Given the description of an element on the screen output the (x, y) to click on. 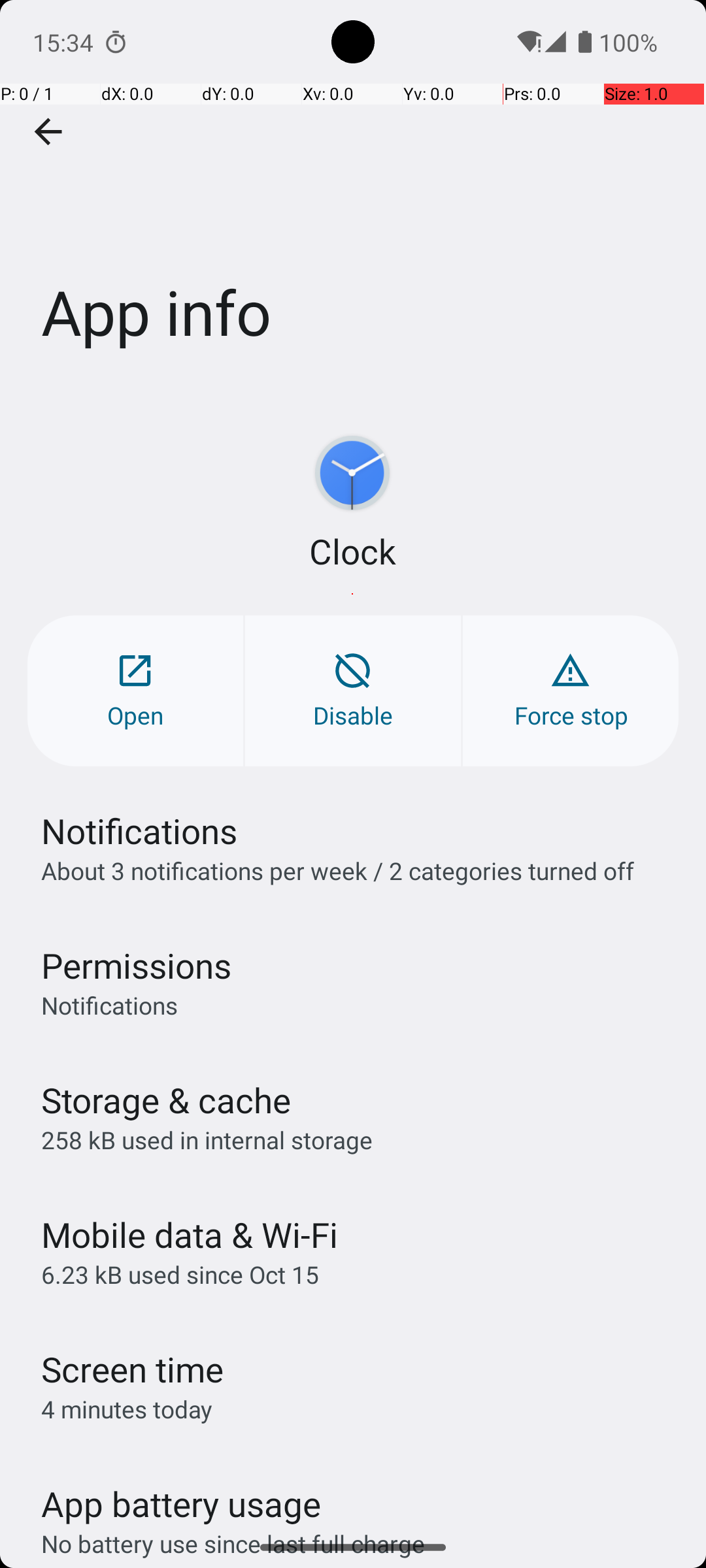
Disable Element type: android.widget.Button (352, 690)
About 3 notifications per week / 2 categories turned off Element type: android.widget.TextView (337, 870)
258 kB used in internal storage Element type: android.widget.TextView (206, 1139)
6.23 kB used since Oct 15 Element type: android.widget.TextView (180, 1273)
4 minutes today Element type: android.widget.TextView (127, 1408)
